Given the description of an element on the screen output the (x, y) to click on. 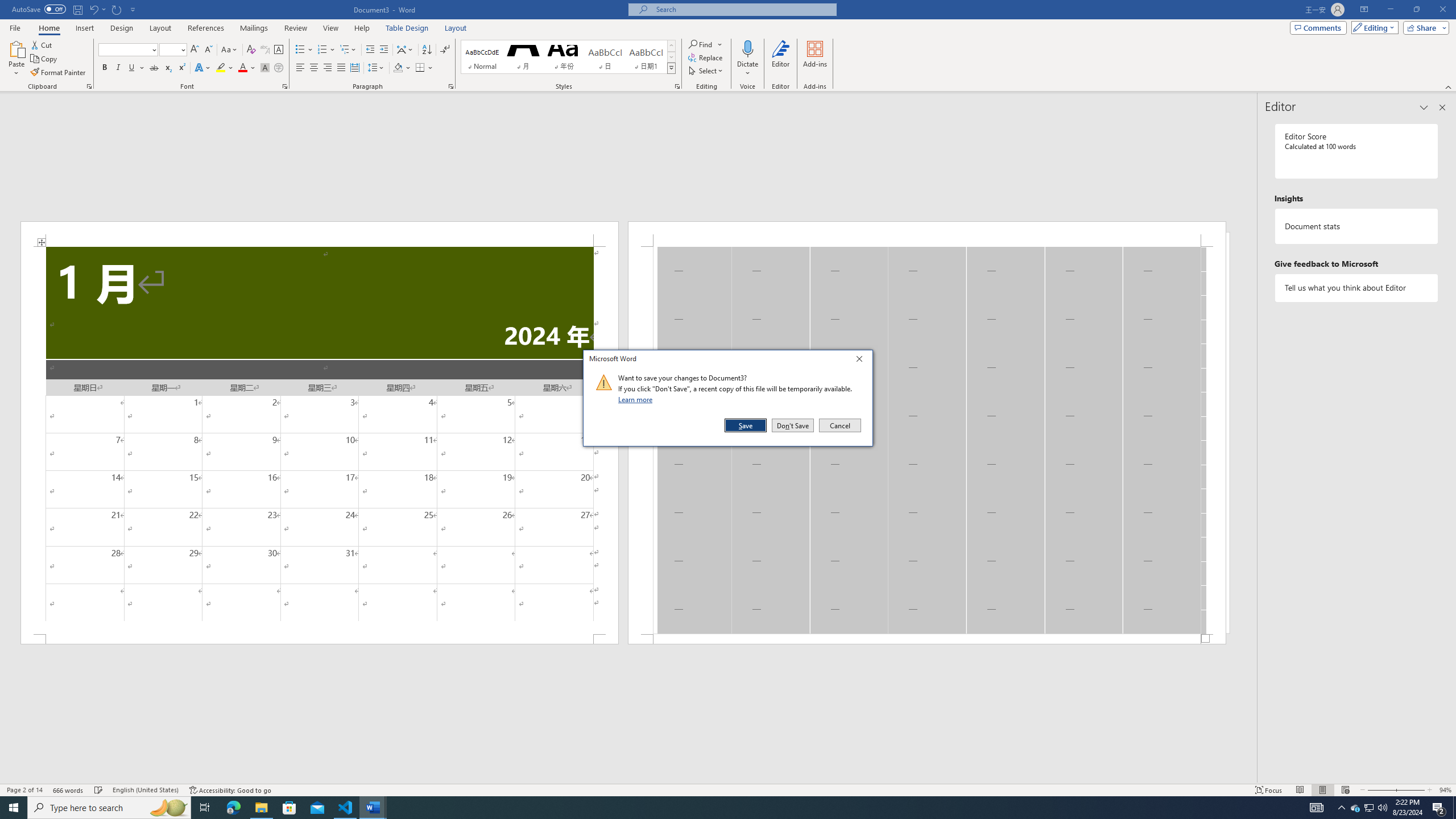
Task Pane Options (1423, 107)
Clear Formatting (250, 49)
Customize Quick Access Toolbar (133, 9)
Word Count 666 words (68, 790)
Open (182, 49)
Sort... (426, 49)
Find (1355, 807)
File Tab (705, 44)
Help (15, 27)
Office Clipboard... (361, 28)
Editor (88, 85)
Multilevel List (780, 58)
Line and Paragraph Spacing (347, 49)
